Given the description of an element on the screen output the (x, y) to click on. 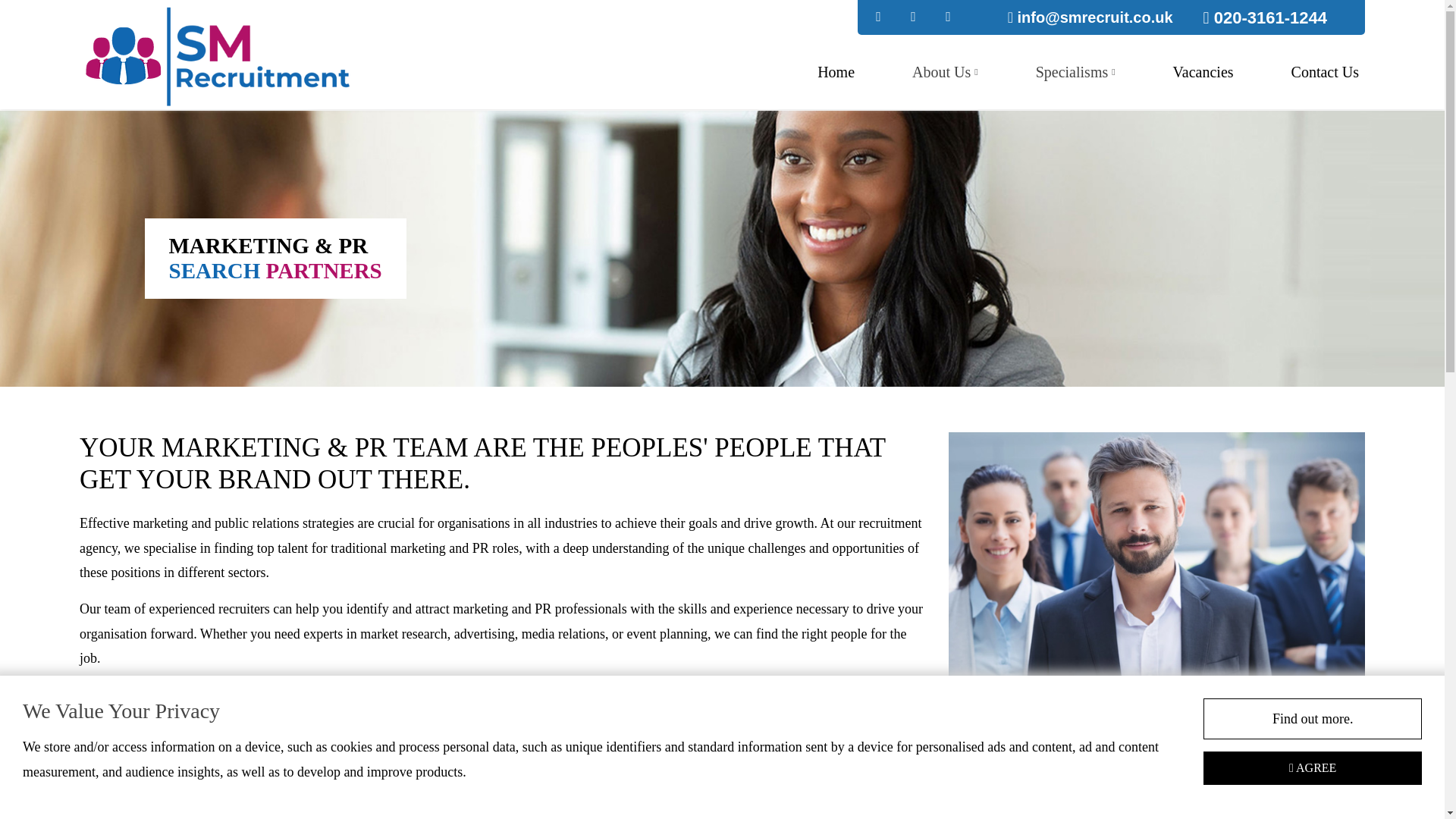
Find out more. (1313, 718)
020-3161-1244 (1265, 16)
Specialisms (1075, 71)
About Us (944, 71)
Contact Us (1325, 71)
Home (835, 71)
Vacancies (1203, 71)
